Given the description of an element on the screen output the (x, y) to click on. 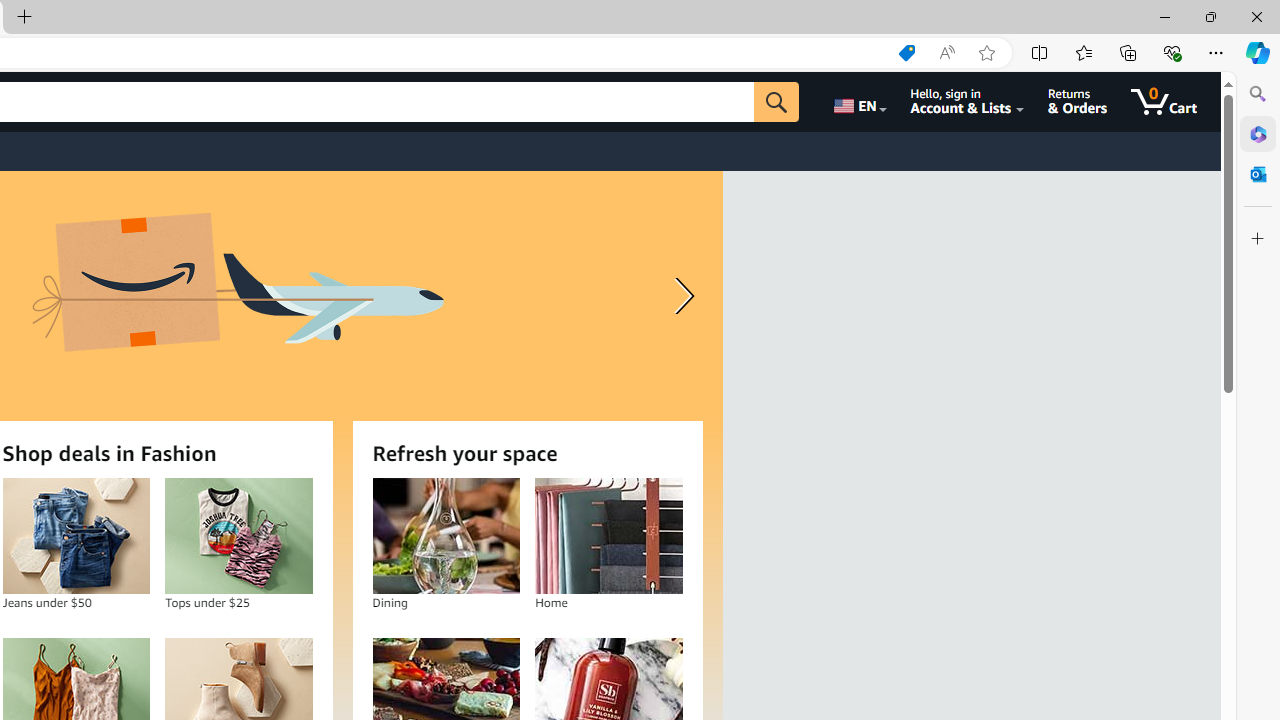
0 items in cart (1163, 101)
Dining (445, 536)
Shopping in Microsoft Edge (906, 53)
Tops under $25 (238, 536)
Choose a language for shopping. (858, 101)
Go (776, 101)
